Given the description of an element on the screen output the (x, y) to click on. 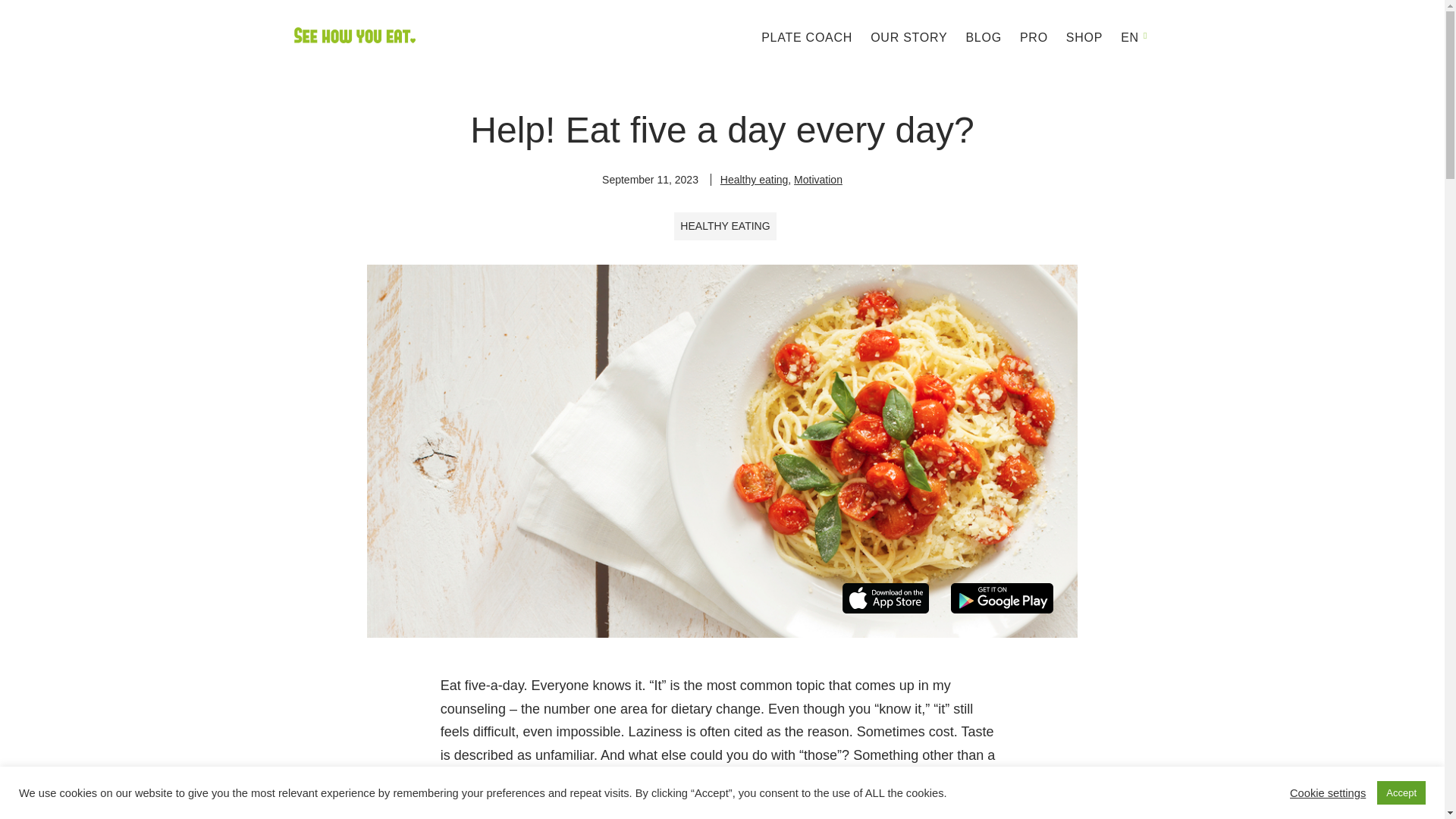
HEALTHY EATING (725, 226)
EN (1134, 38)
Healthy eating (754, 179)
BLOG (983, 38)
SHOP (1083, 38)
PLATE COACH (806, 38)
Healthy eating (754, 179)
Motivation (818, 179)
OUR STORY (908, 38)
Motivation (818, 179)
Healthy eating (725, 226)
PRO (1034, 38)
